Given the description of an element on the screen output the (x, y) to click on. 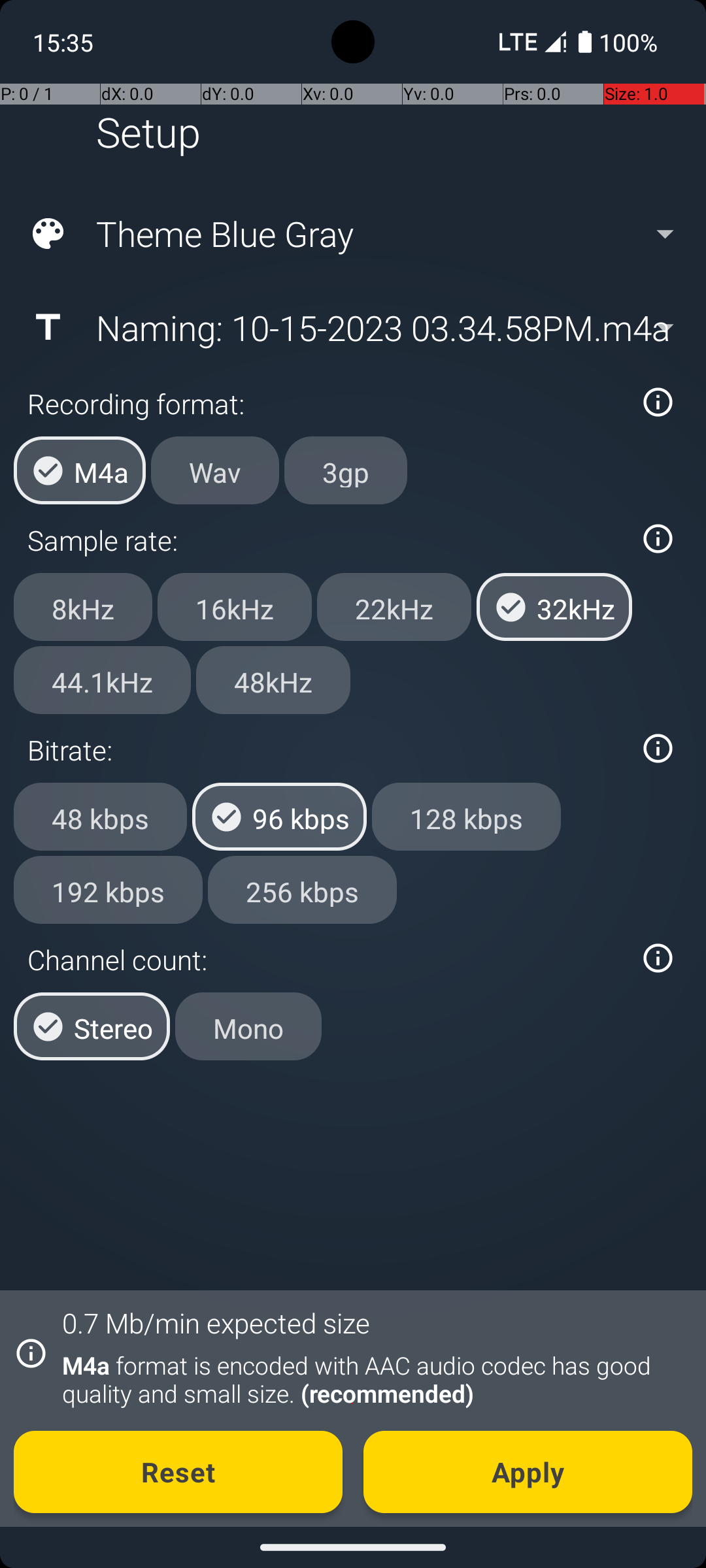
0.7 Mb/min expected size Element type: android.widget.TextView (215, 1322)
Naming: 10-15-2023 03.34.58PM.m4a Element type: android.widget.TextView (352, 327)
